Given the description of an element on the screen output the (x, y) to click on. 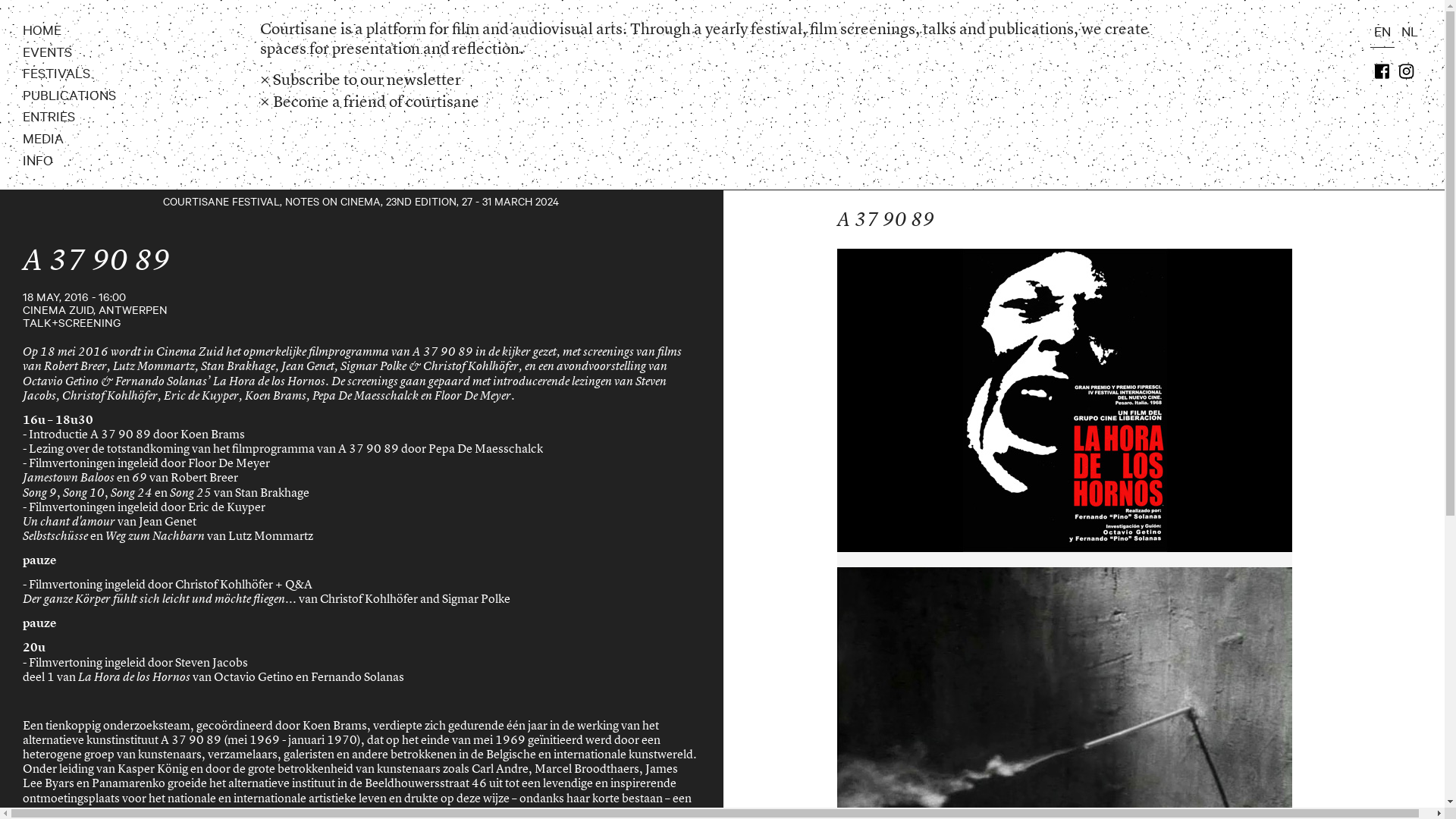
EN Element type: text (1382, 30)
ENTRIES Element type: text (48, 115)
FESTIVALS Element type: text (56, 72)
EVENTS Element type: text (47, 50)
NL Element type: text (1409, 30)
Skip to main content Element type: text (58, 0)
PUBLICATIONS Element type: text (69, 94)
MEDIA Element type: text (42, 137)
HOME Element type: text (41, 28)
INFO Element type: text (37, 159)
